Given the description of an element on the screen output the (x, y) to click on. 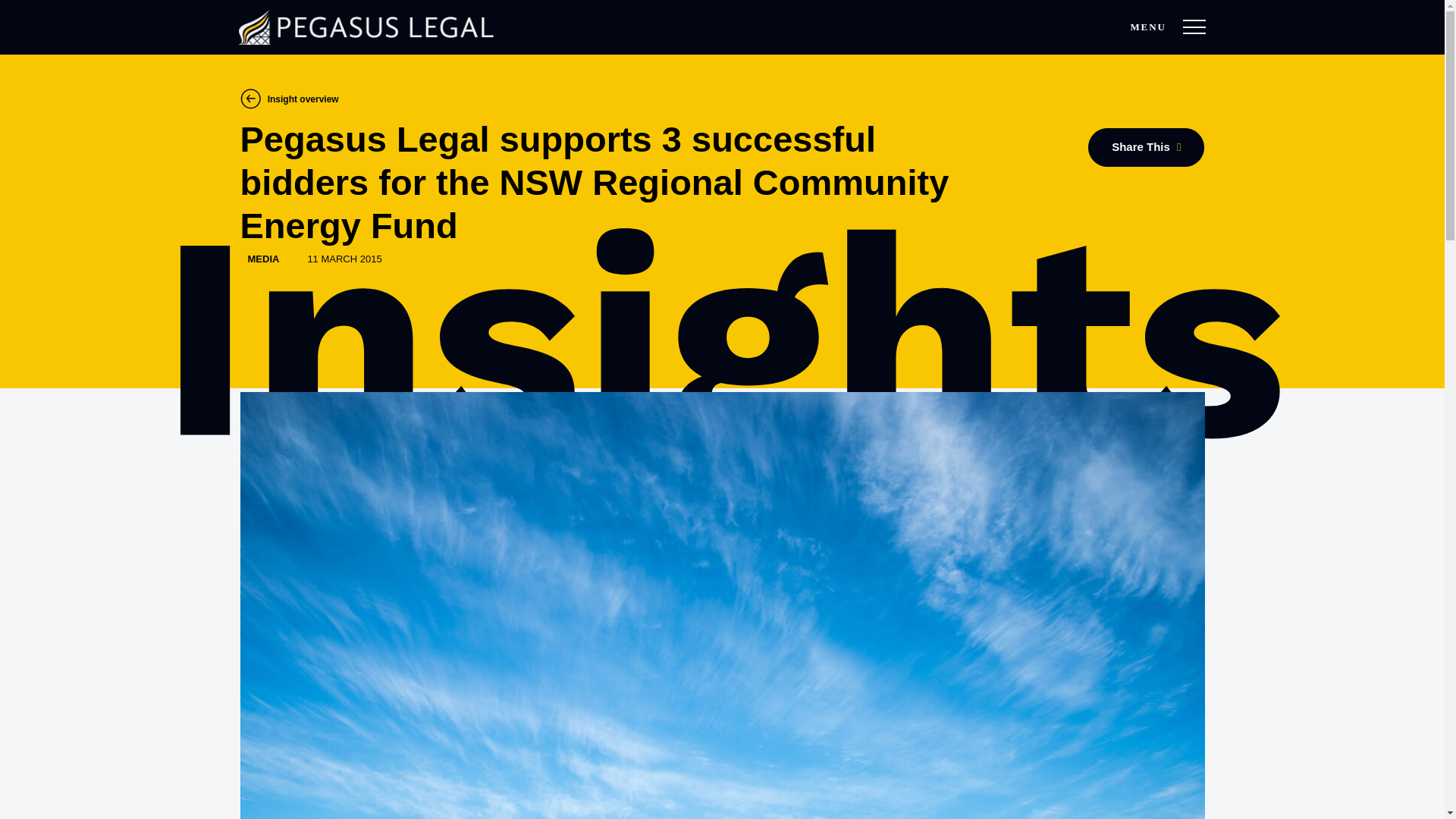
Search (1138, 34)
Share This (1145, 147)
MENU (1193, 27)
Insight overview (288, 97)
